Given the description of an element on the screen output the (x, y) to click on. 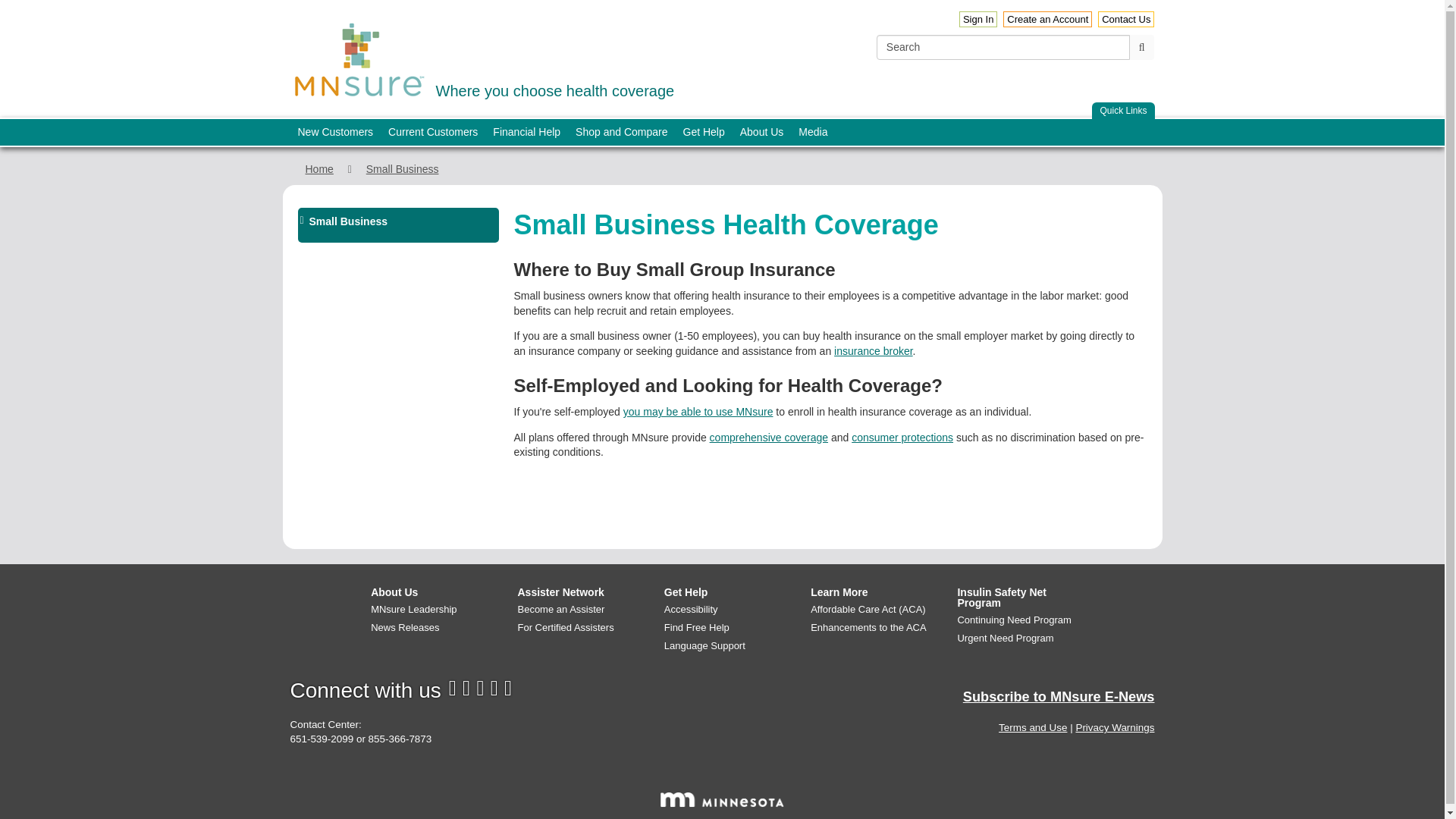
Essential Health Benefits (769, 437)
Create an Account (1047, 19)
Contact Us (1125, 19)
return to home page (358, 60)
submit (481, 57)
Proudly serving the State of Minnesota (1141, 47)
Sign In (722, 799)
New Customers (978, 19)
Quick Links (334, 131)
